Given the description of an element on the screen output the (x, y) to click on. 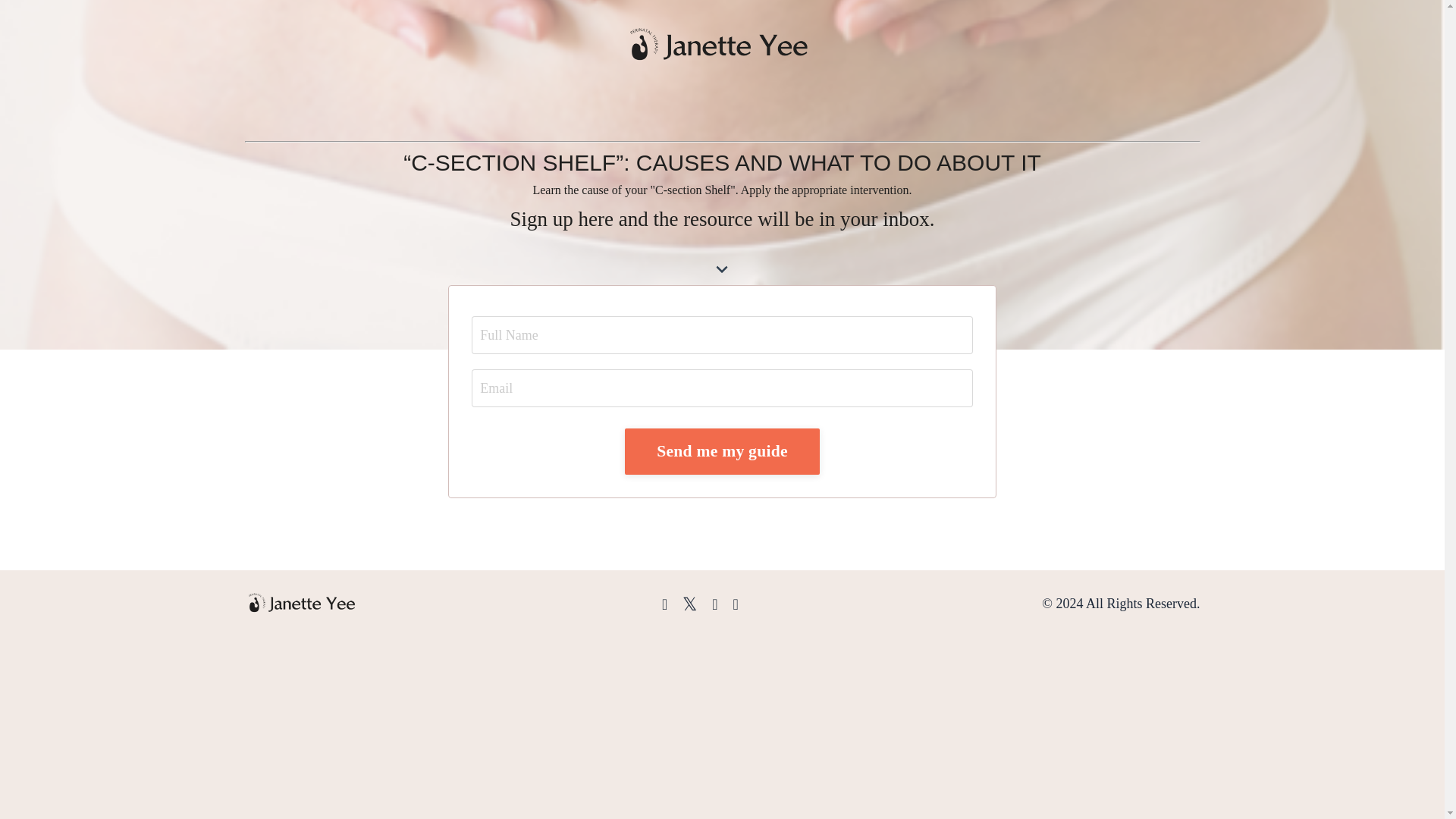
Send me my guide (721, 451)
